Given the description of an element on the screen output the (x, y) to click on. 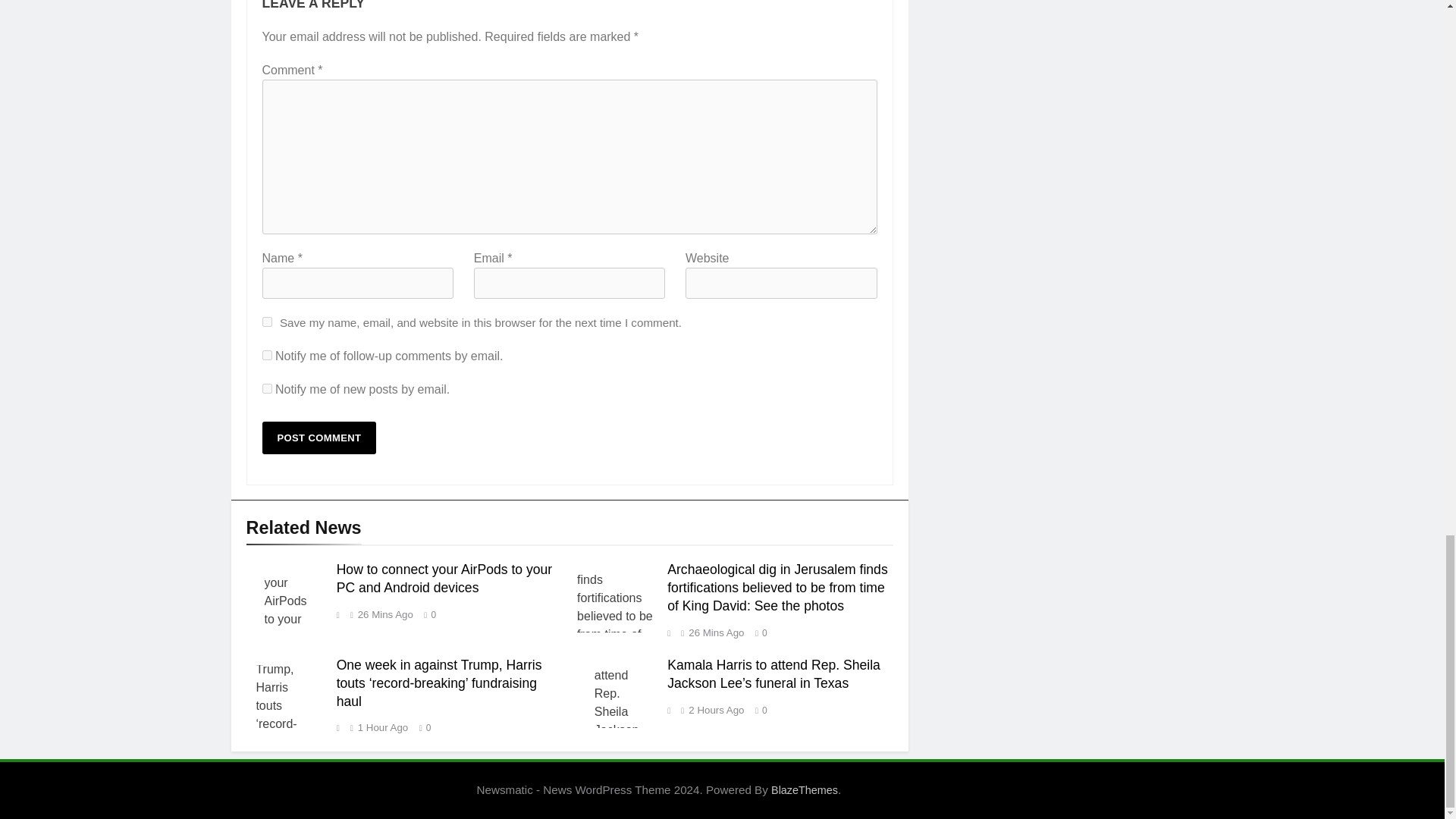
subscribe (267, 388)
Post Comment (319, 437)
subscribe (267, 355)
yes (267, 321)
